Given the description of an element on the screen output the (x, y) to click on. 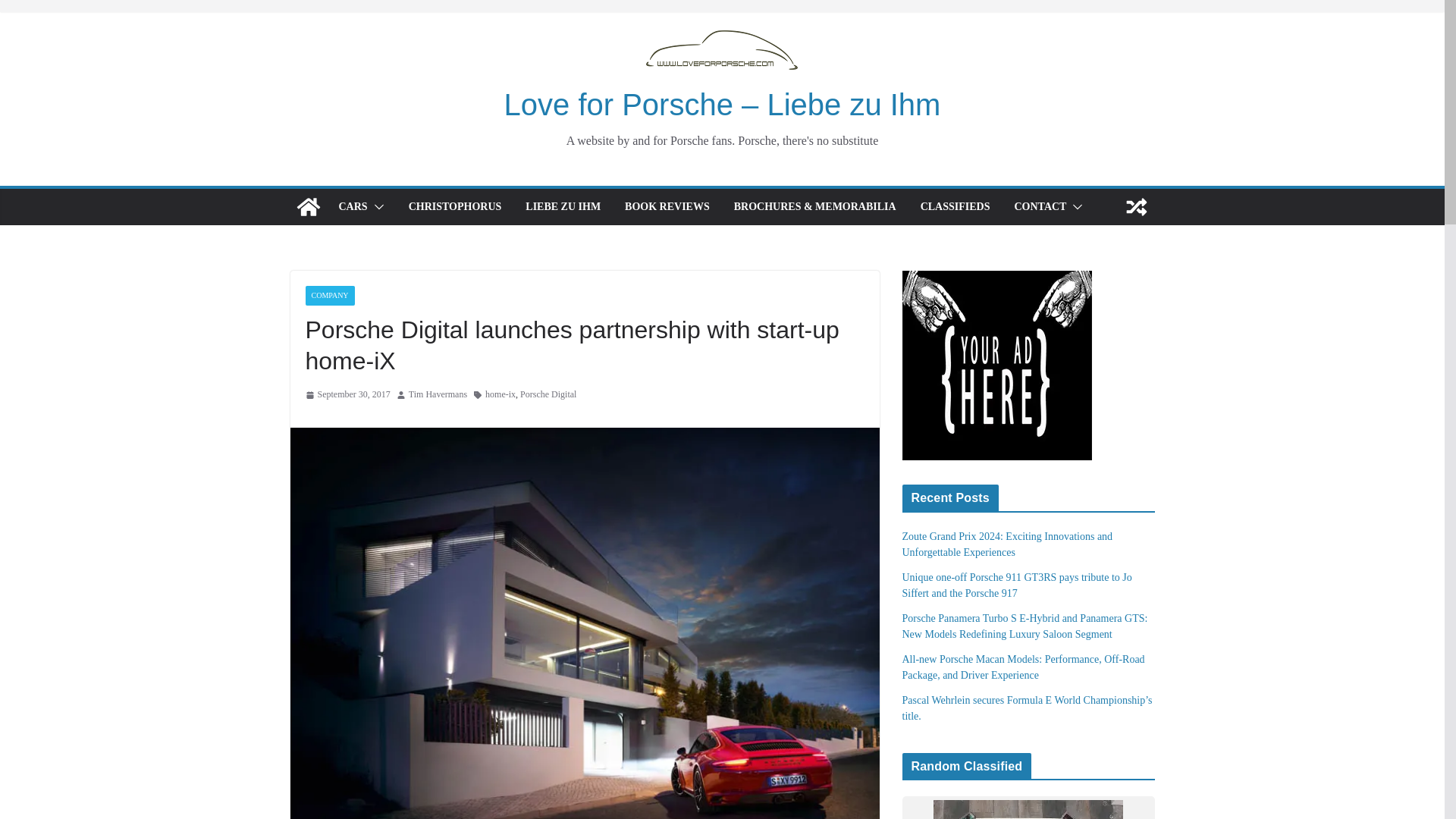
LIEBE ZU IHM (562, 206)
Porsche brochures, literature and memorabilia (814, 206)
CHRISTOPHORUS (455, 206)
CARS (351, 206)
Tim Havermans (438, 394)
View a random post (1136, 207)
10:00 am (347, 394)
